Given the description of an element on the screen output the (x, y) to click on. 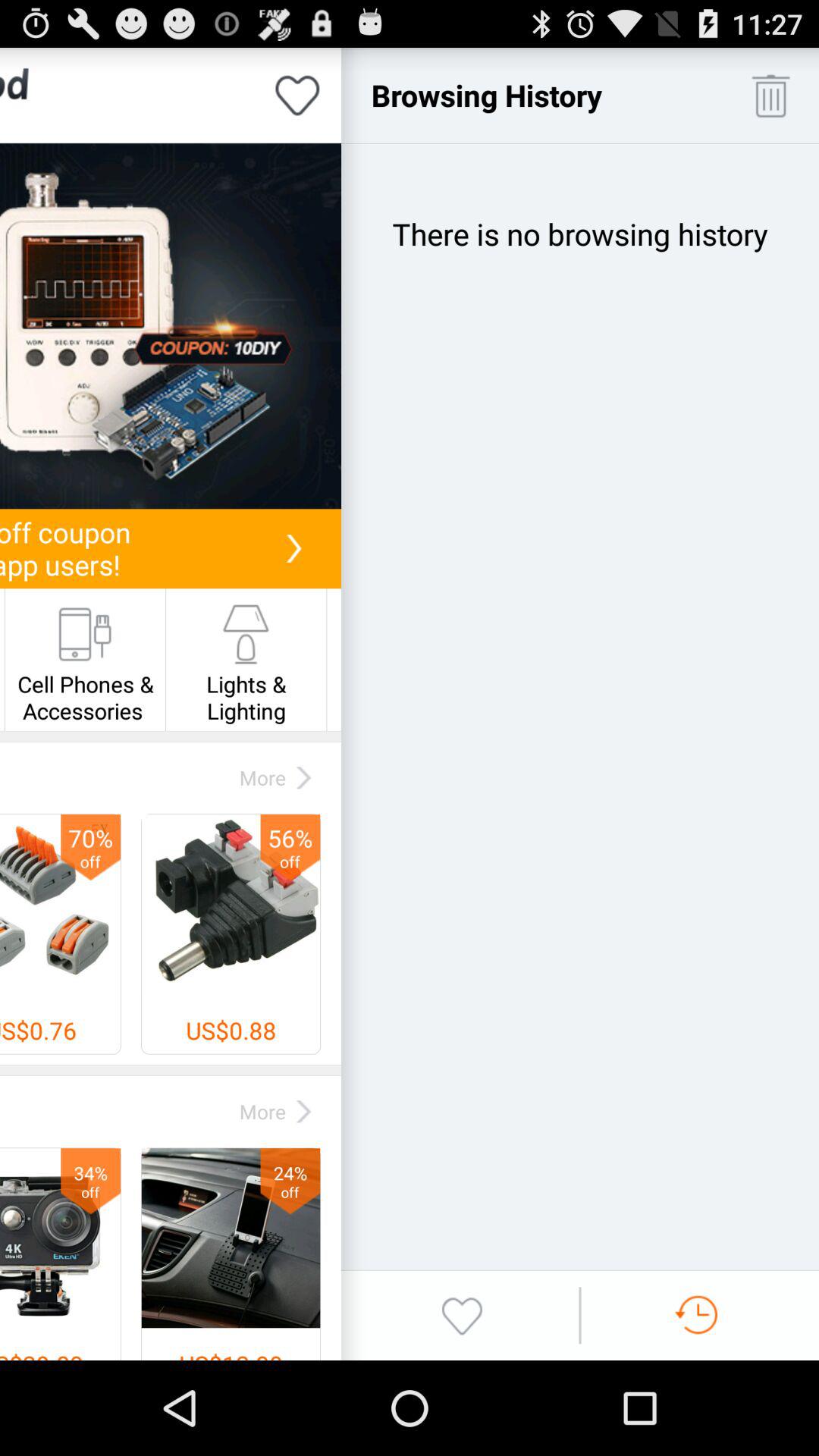
click for coupon (170, 326)
